Given the description of an element on the screen output the (x, y) to click on. 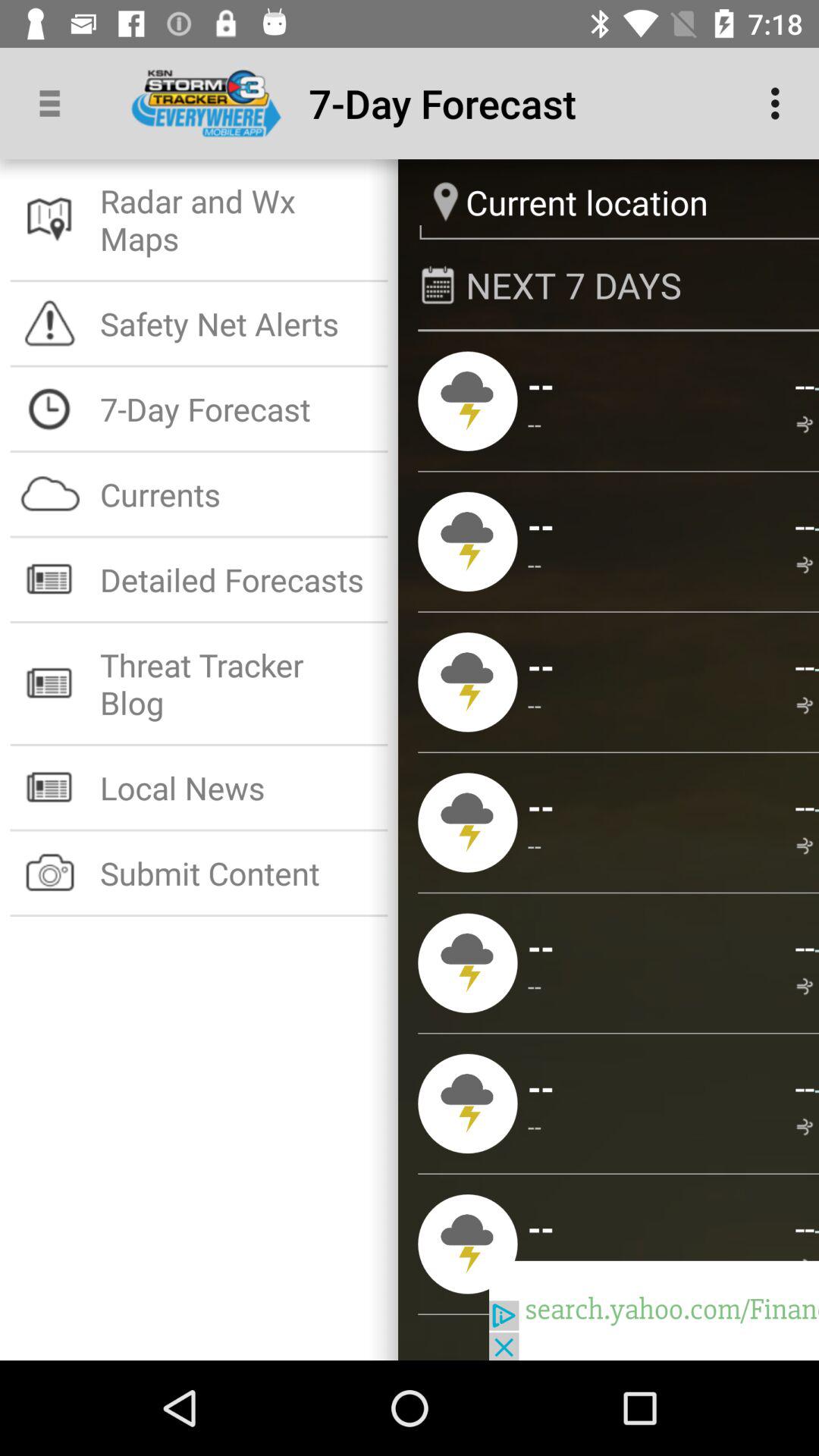
swipe until -- app (804, 525)
